Given the description of an element on the screen output the (x, y) to click on. 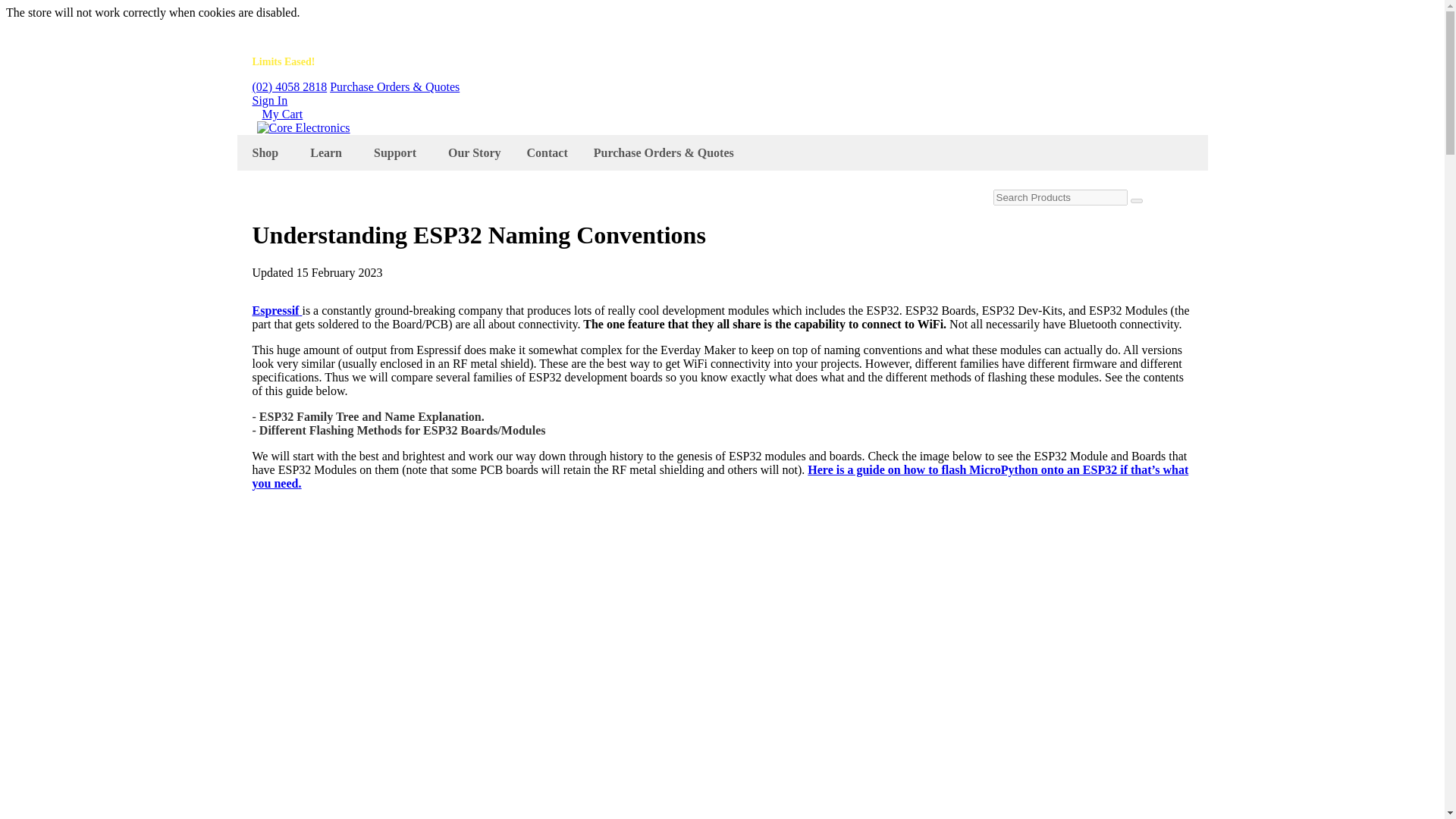
Sign In (268, 100)
Shop (268, 152)
My Cart (282, 113)
Limits Eased! More RPi boards variants now available. (370, 61)
Core Electronics (302, 128)
Core Electronics (302, 127)
